Given the description of an element on the screen output the (x, y) to click on. 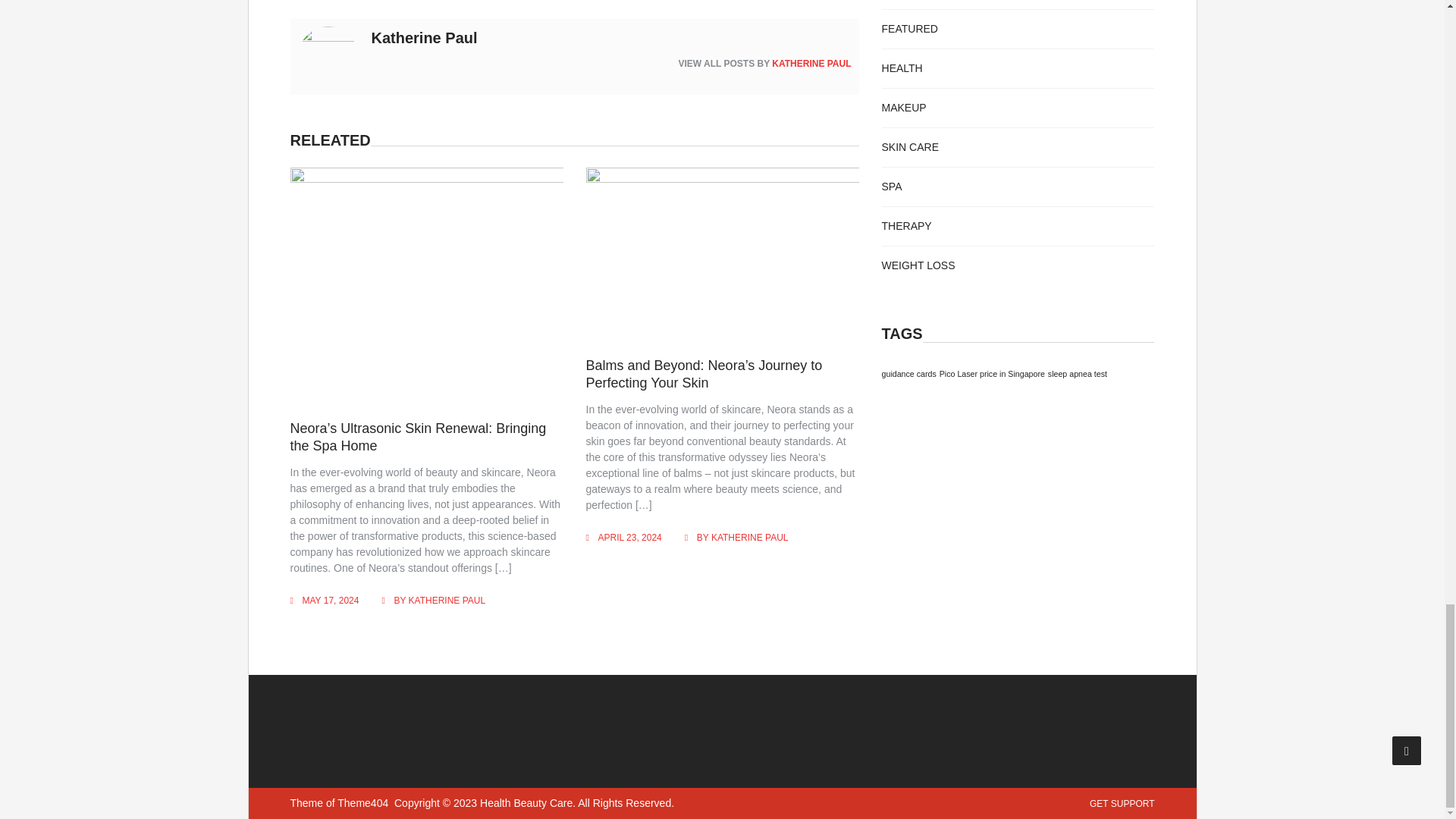
KATHERINE PAUL (750, 537)
APRIL 23, 2024 (630, 537)
KATHERINE PAUL (810, 63)
MAY 17, 2024 (329, 600)
KATHERINE PAUL (447, 600)
